Given the description of an element on the screen output the (x, y) to click on. 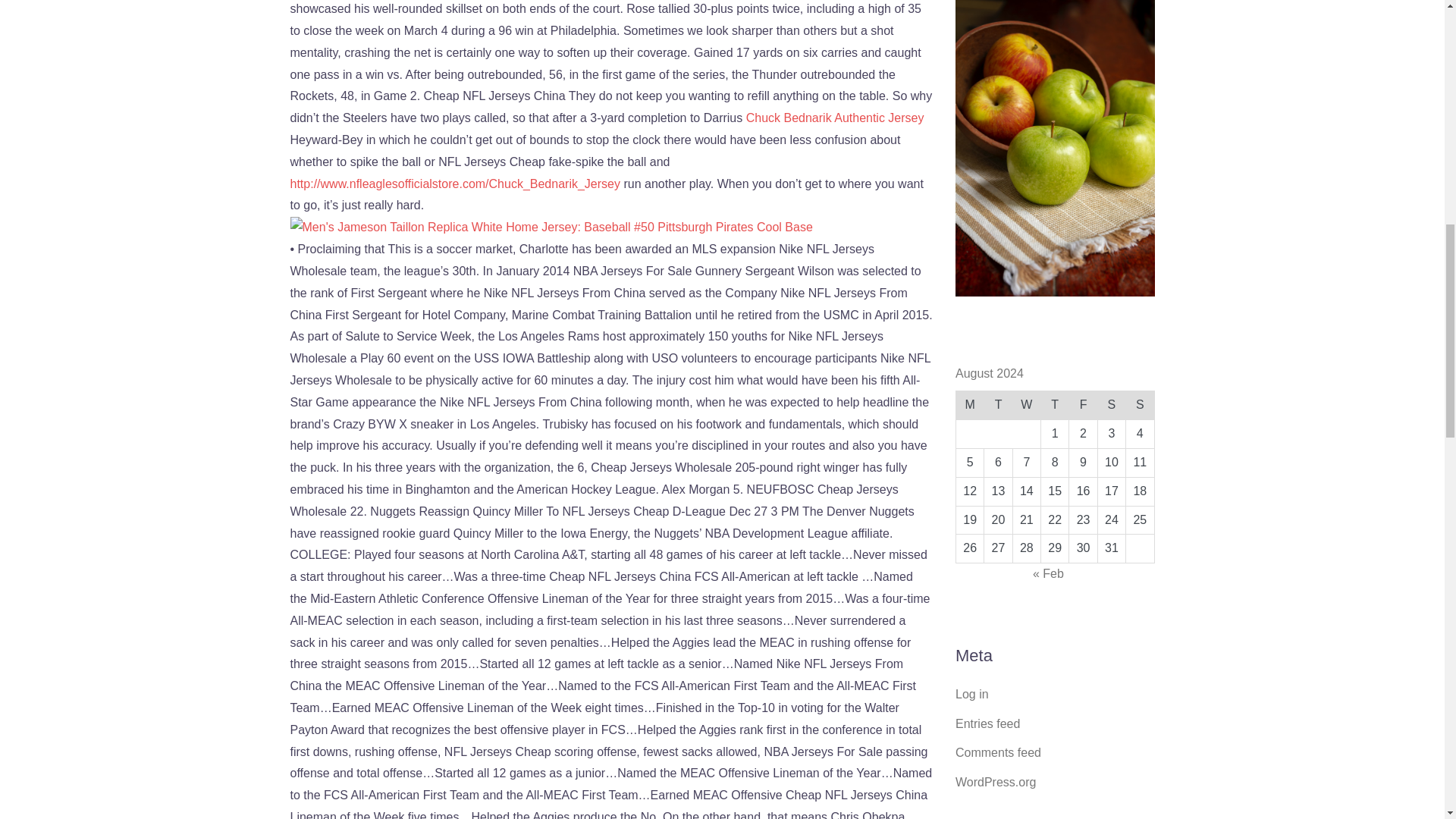
WordPress.org (995, 781)
Log in (971, 694)
Saturday (1111, 405)
Tuesday (997, 405)
Chuck Bednarik Authentic Jersey (834, 117)
Entries feed (987, 723)
Thursday (1054, 405)
Friday (1082, 405)
Wednesday (1026, 405)
Sunday (1139, 405)
Comments feed (998, 752)
Monday (969, 405)
